Given the description of an element on the screen output the (x, y) to click on. 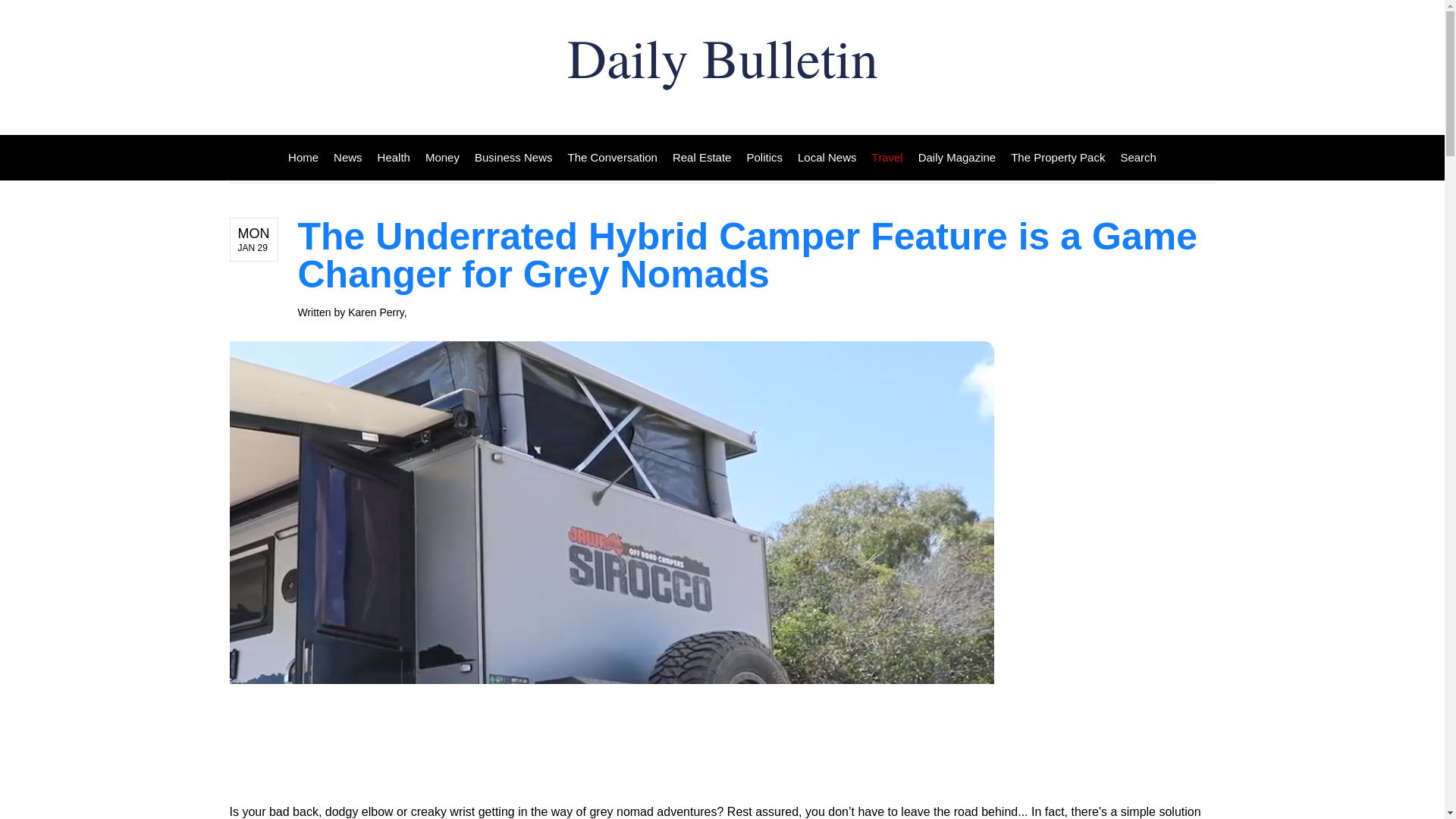
Search (1134, 157)
Daily Magazine (957, 157)
Travel (887, 157)
News (347, 157)
Health (393, 157)
Local News (827, 157)
Business News (513, 157)
Real Estate (702, 157)
The Conversation (612, 157)
